Given the description of an element on the screen output the (x, y) to click on. 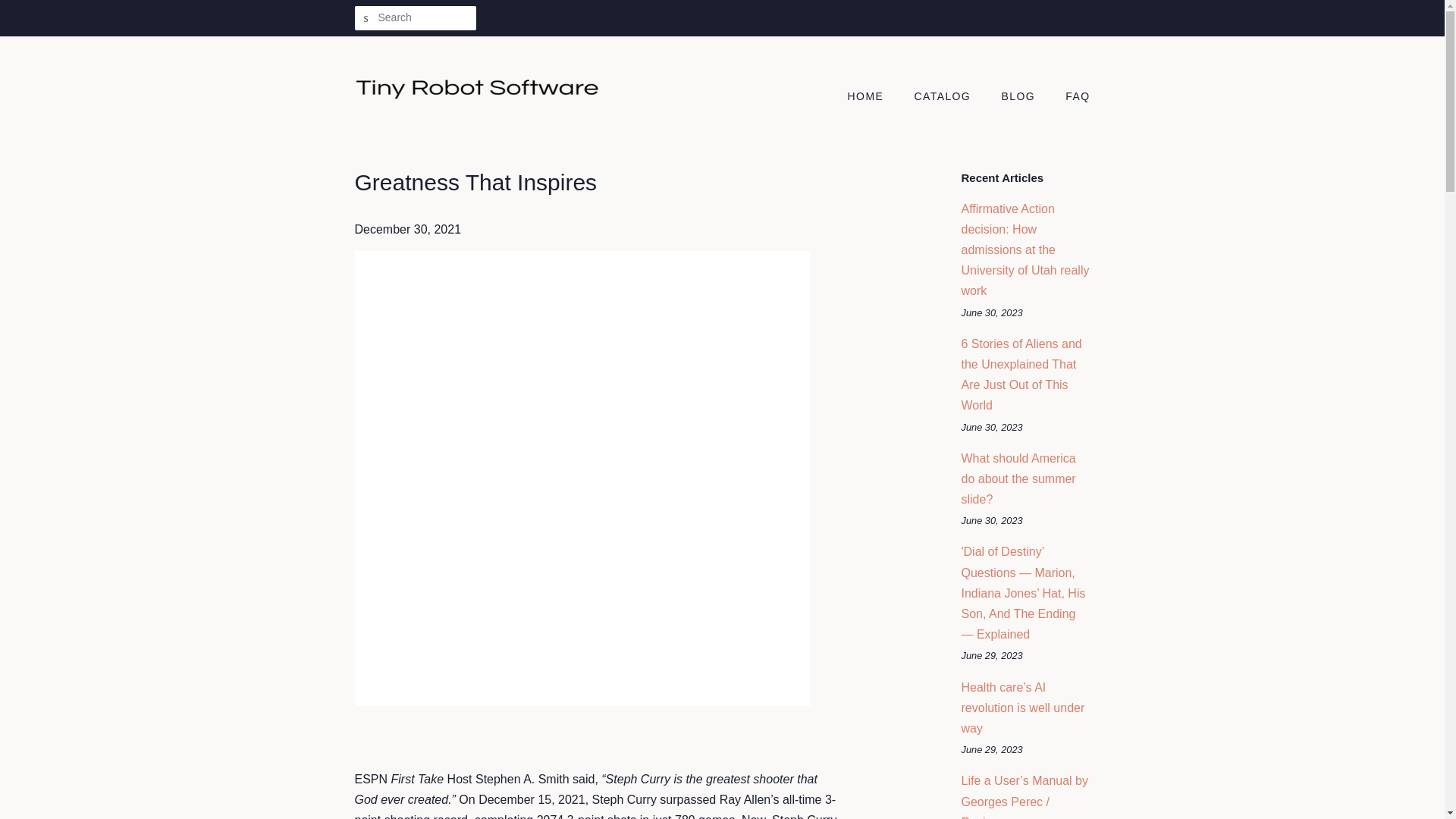
What should America do about the summer slide? (1017, 479)
FAQ (1071, 96)
HOME (873, 96)
BLOG (1019, 96)
SEARCH (366, 18)
CATALOG (944, 96)
